Given the description of an element on the screen output the (x, y) to click on. 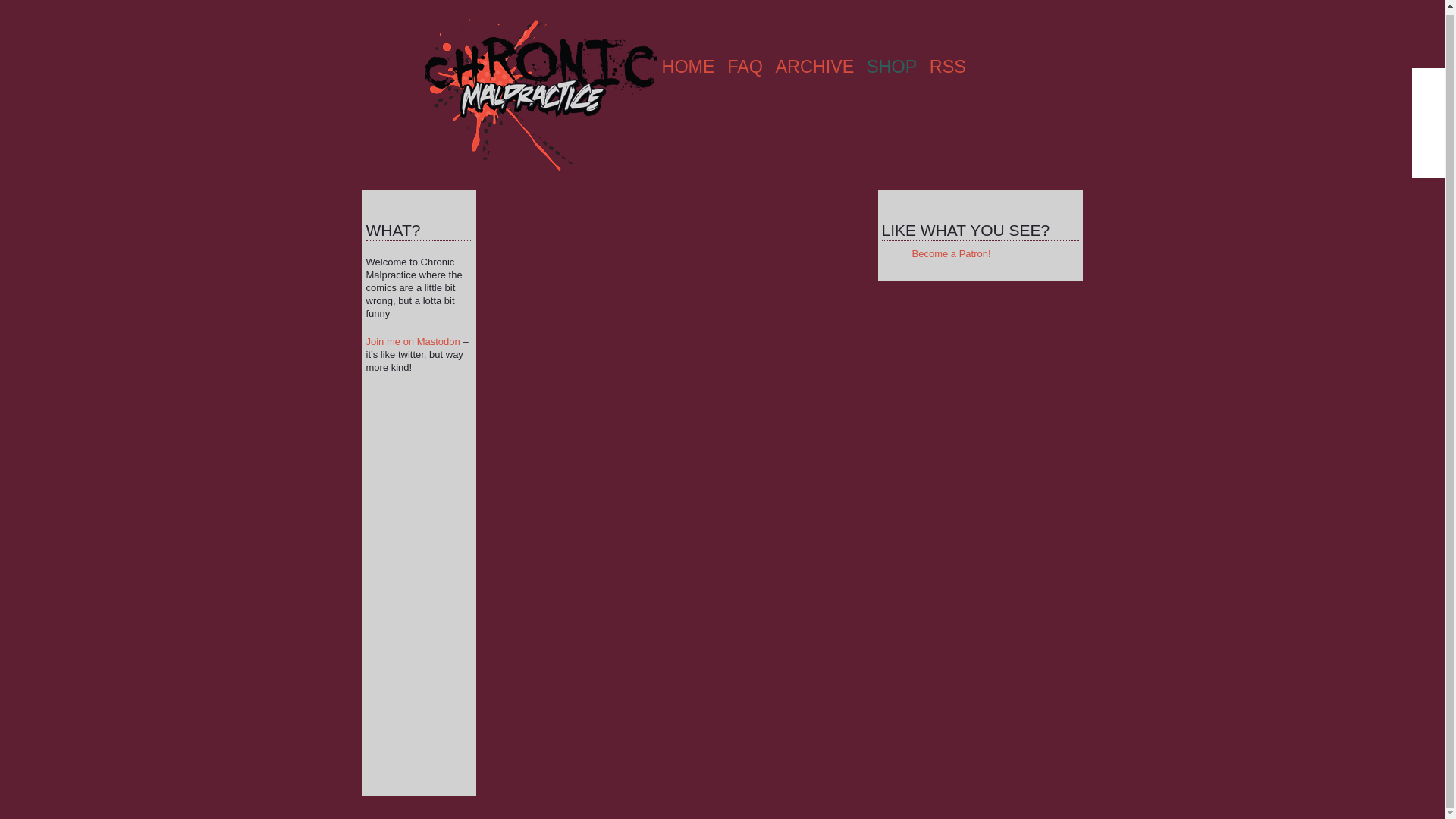
FAQ (744, 66)
life is pain (891, 66)
SHOP (891, 66)
Become the best patron (1430, 85)
HOME (687, 66)
chronic malpractice logo - click to go home (540, 94)
Join me on Mastodon (412, 341)
Become a Patron! (950, 253)
BECOME MY FAVORITE PATRON ON PATREON (1430, 85)
ARCHIVE (813, 66)
